Given the description of an element on the screen output the (x, y) to click on. 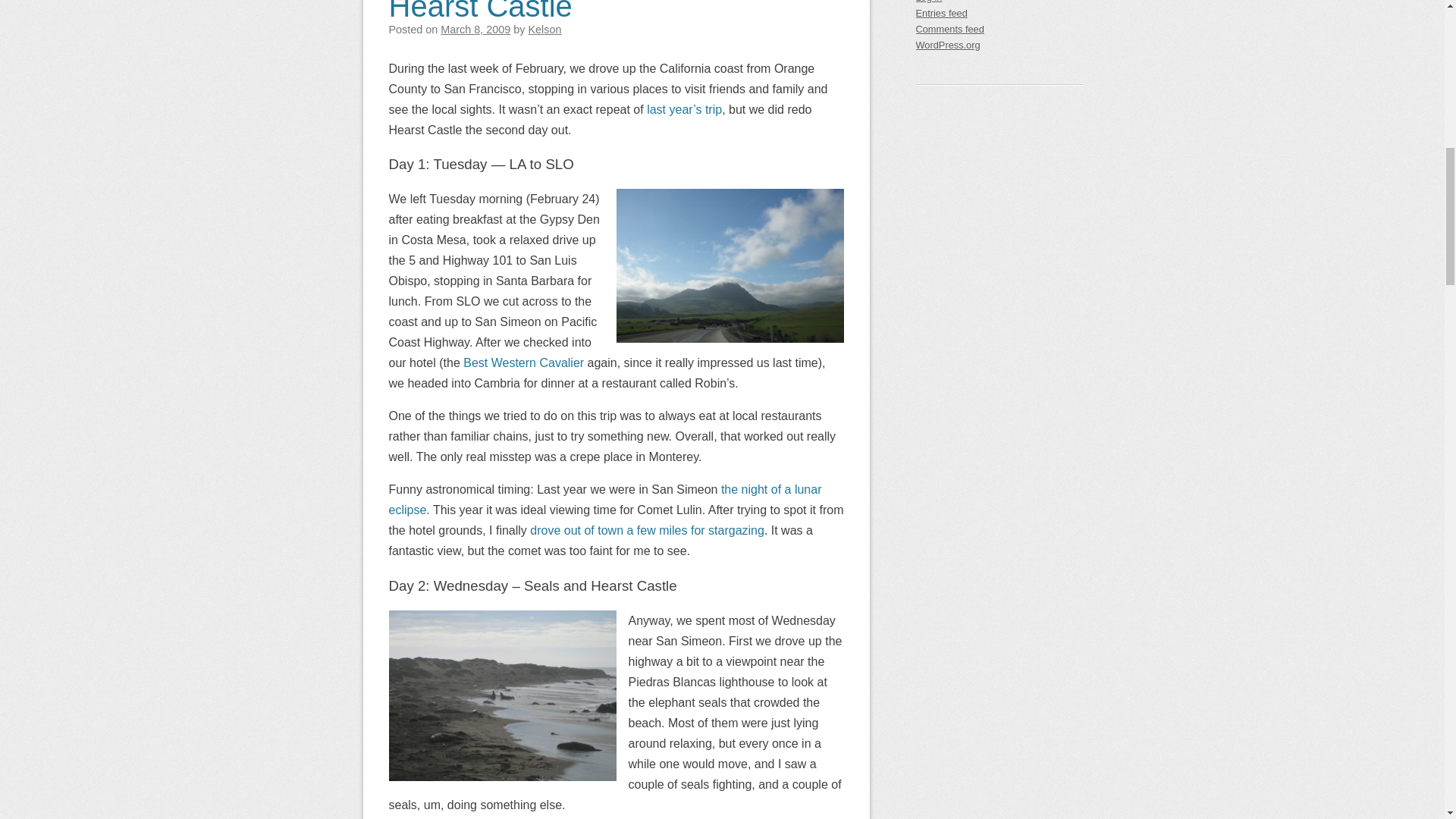
11:16 PM (476, 29)
the night of a lunar eclipse (604, 499)
March 8, 2009 (476, 29)
Best Western Cavalier (523, 362)
Kelson (545, 29)
drove out of town a few miles for stargazing (646, 530)
View all posts by Kelson (545, 29)
